Given the description of an element on the screen output the (x, y) to click on. 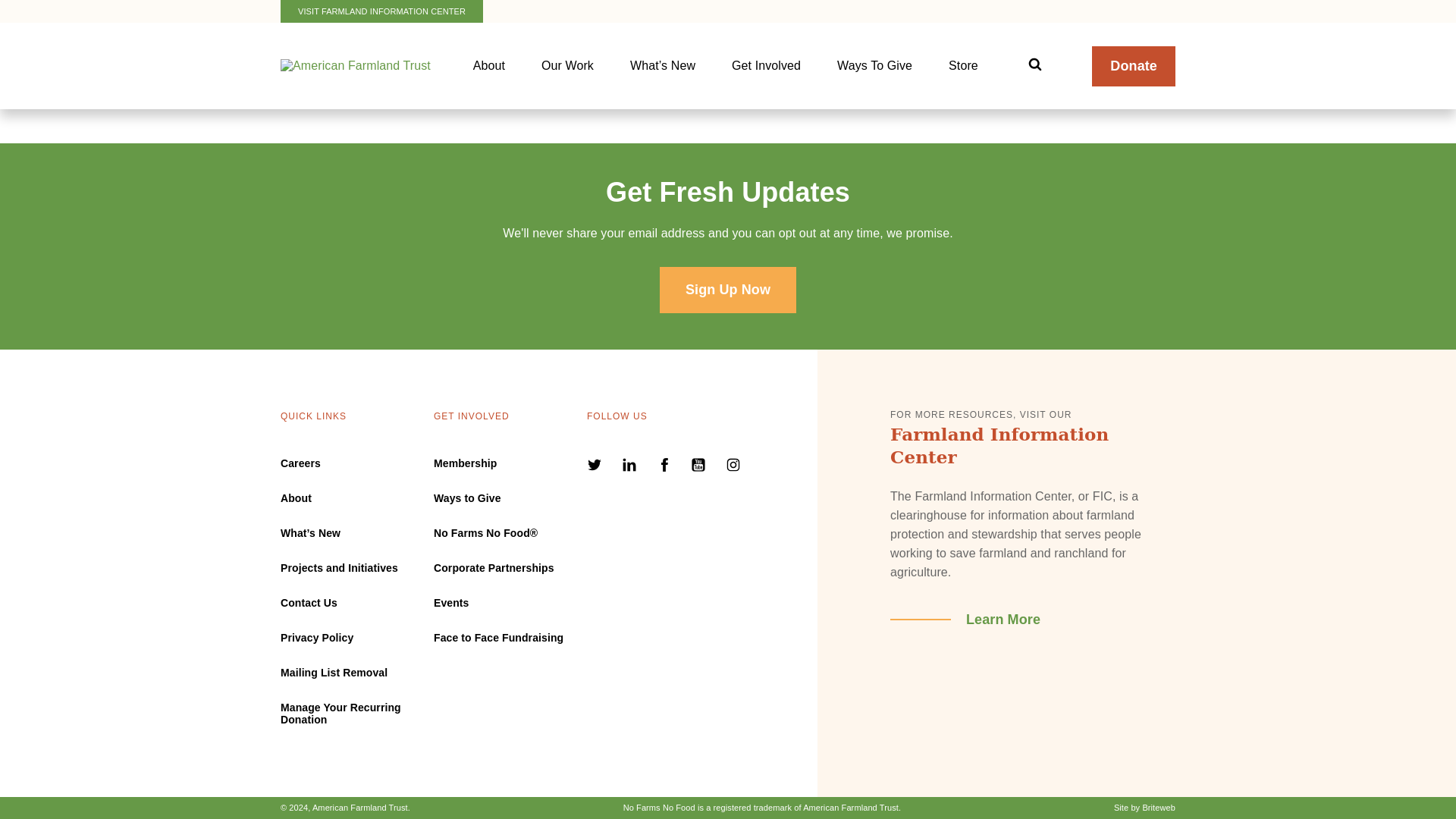
Donate (1133, 65)
linkedin (631, 466)
instagram (733, 466)
Our Work (566, 65)
Ways To Give (874, 65)
Get Involved (765, 65)
facebook (666, 466)
youtube (700, 466)
twitter (596, 466)
VISIT FARMLAND INFORMATION CENTER (382, 11)
